Given the description of an element on the screen output the (x, y) to click on. 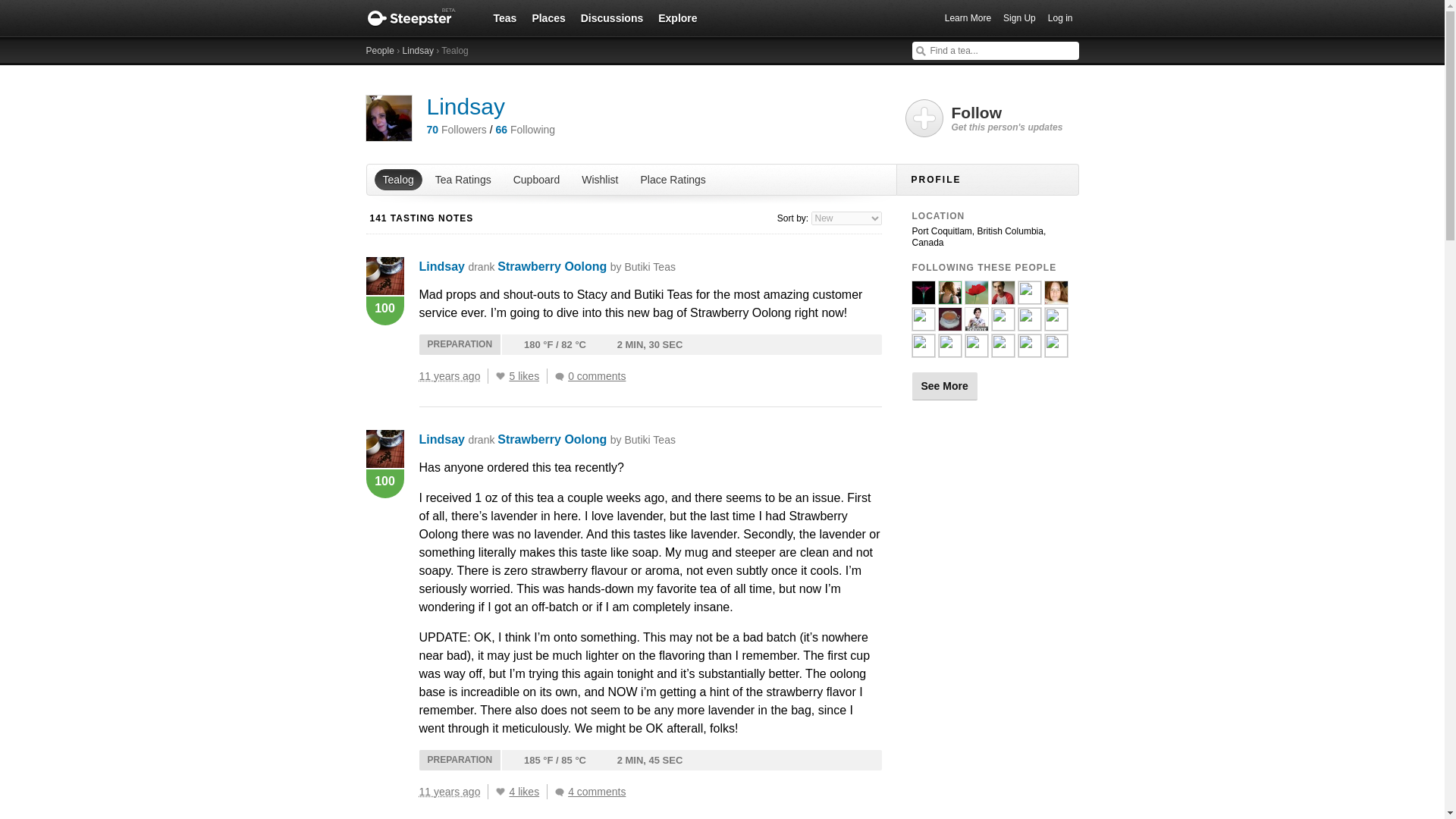
Explore (677, 17)
Teas (504, 17)
66 Following (526, 129)
0 comments (593, 376)
70 Followers (456, 129)
11 years ago (453, 791)
2013-06-01T15:26:46Z (449, 791)
Lindsay (441, 439)
Lindsay (418, 50)
Tea Ratings (463, 179)
